Given the description of an element on the screen output the (x, y) to click on. 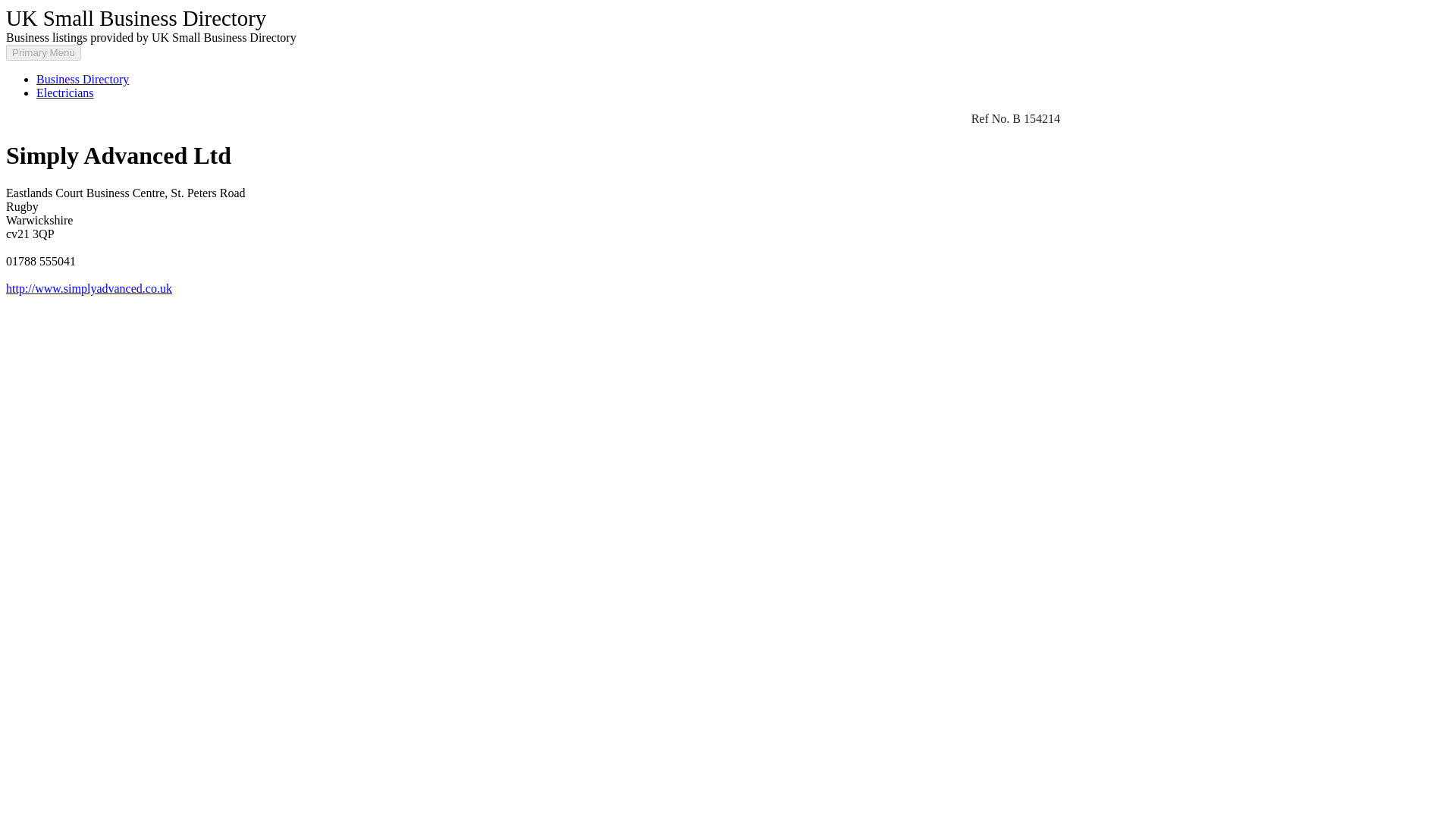
Electricians (65, 92)
Primary Menu (43, 52)
Business Directory (82, 78)
